Given the description of an element on the screen output the (x, y) to click on. 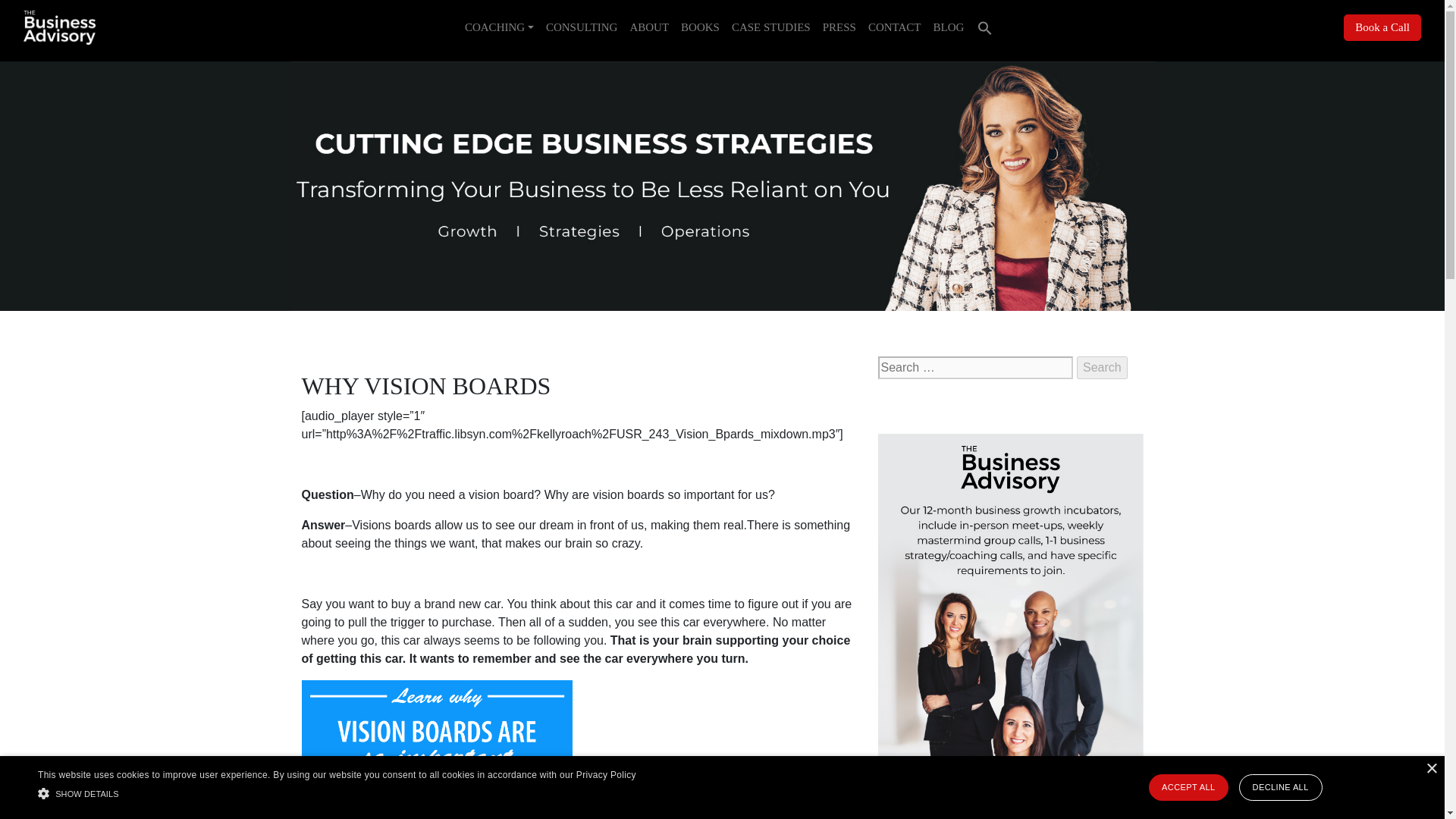
Blog (949, 27)
Search (1101, 367)
CASE STUDIES (770, 27)
CONTACT (894, 27)
Books (700, 27)
BLOG (949, 27)
COACHING (499, 27)
Search (1101, 367)
Twitter (928, 407)
Facebook (891, 407)
About (649, 27)
ABOUT (649, 27)
Search (1101, 367)
BOOKS (700, 27)
Press (838, 27)
